Given the description of an element on the screen output the (x, y) to click on. 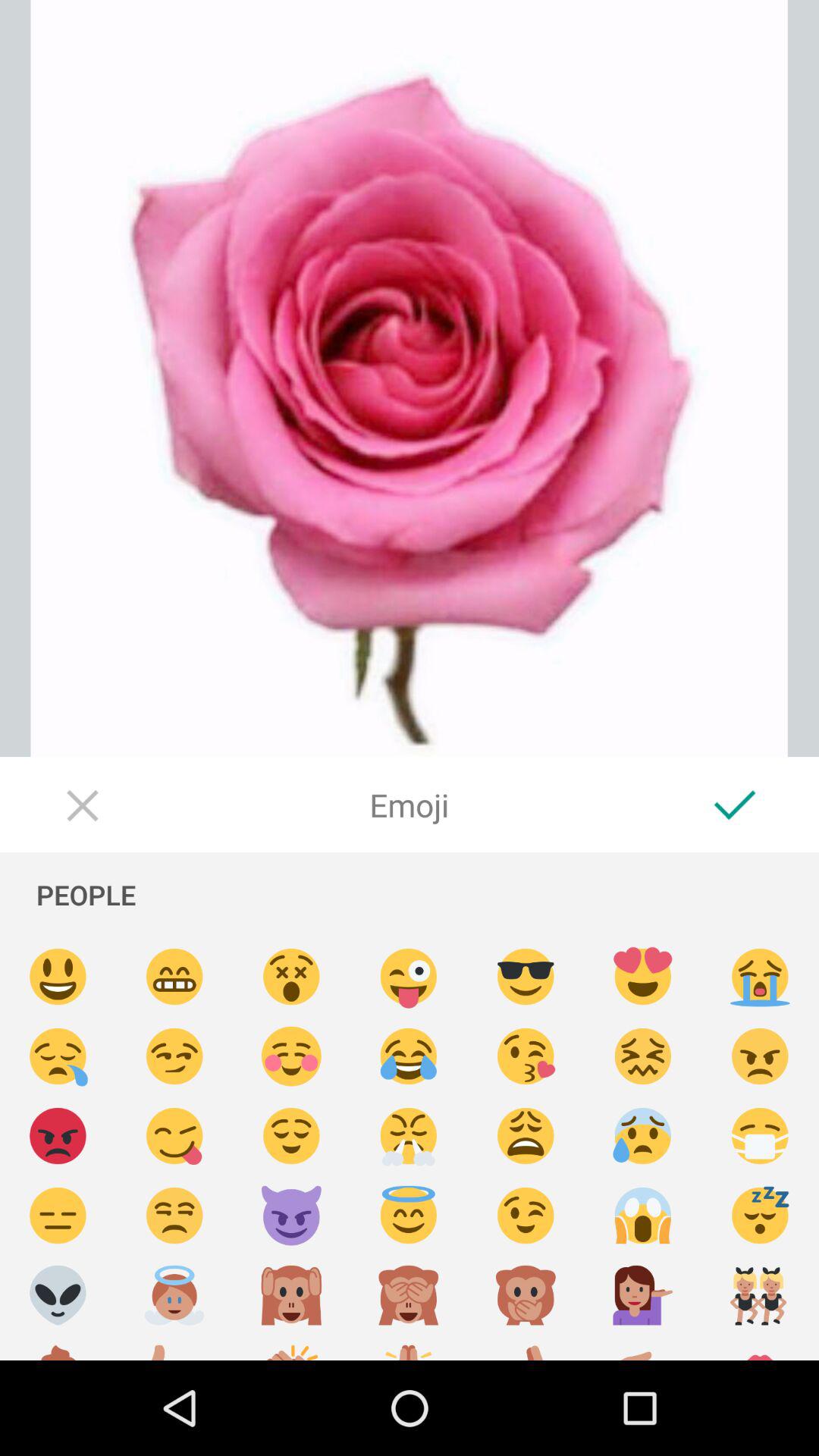
type emoji (291, 1295)
